Given the description of an element on the screen output the (x, y) to click on. 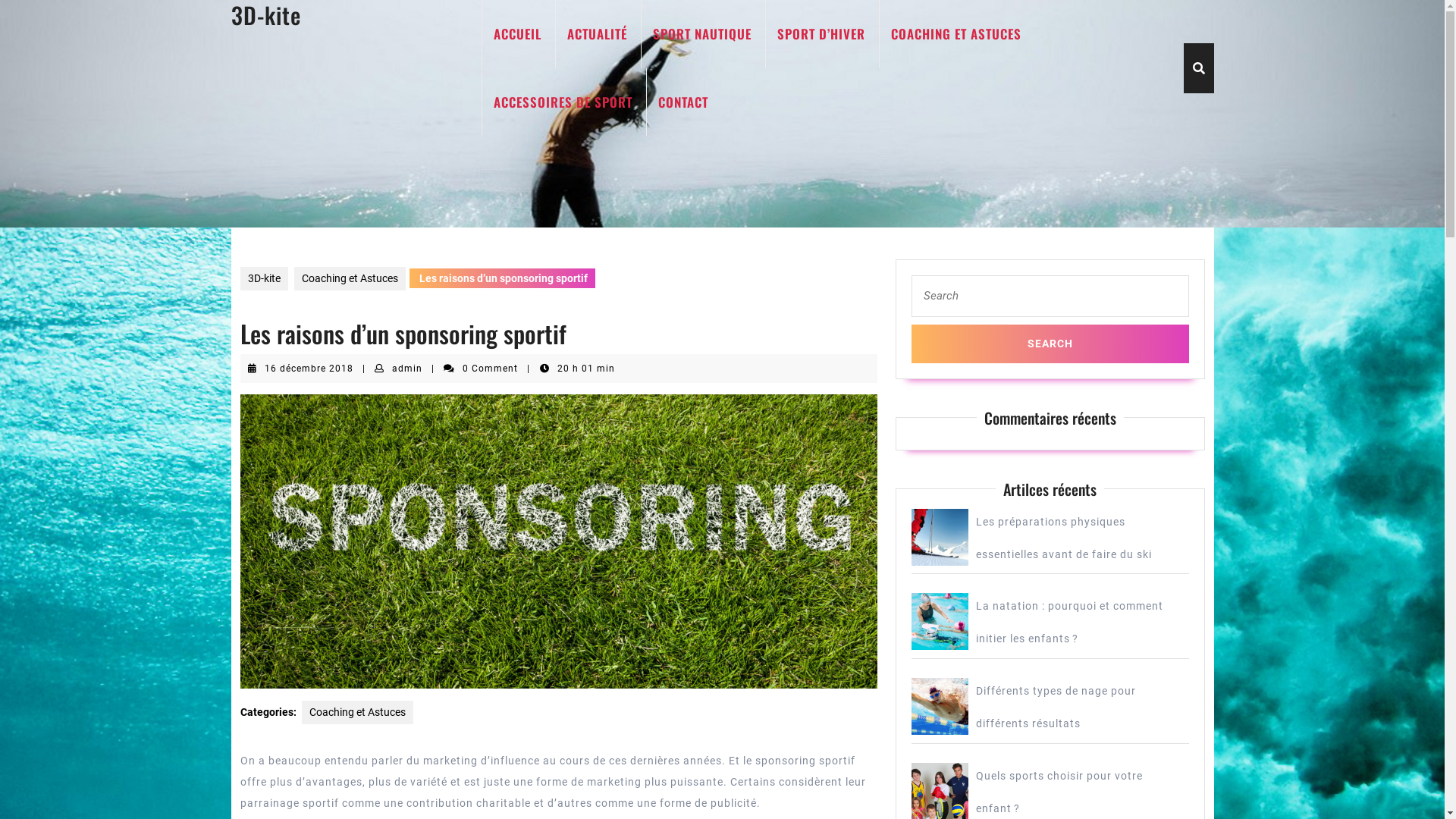
ACCESSOIRES DE SPORT Element type: text (561, 102)
Coaching et Astuces Element type: text (349, 278)
admin
admin Element type: text (407, 368)
Coaching et Astuces Element type: text (357, 712)
CONTACT Element type: text (682, 102)
COACHING ET ASTUCES Element type: text (955, 34)
SPORT NAUTIQUE Element type: text (701, 34)
Search Element type: text (1050, 343)
3D-kite Element type: text (263, 278)
ACCUEIL Element type: text (516, 34)
